Given the description of an element on the screen output the (x, y) to click on. 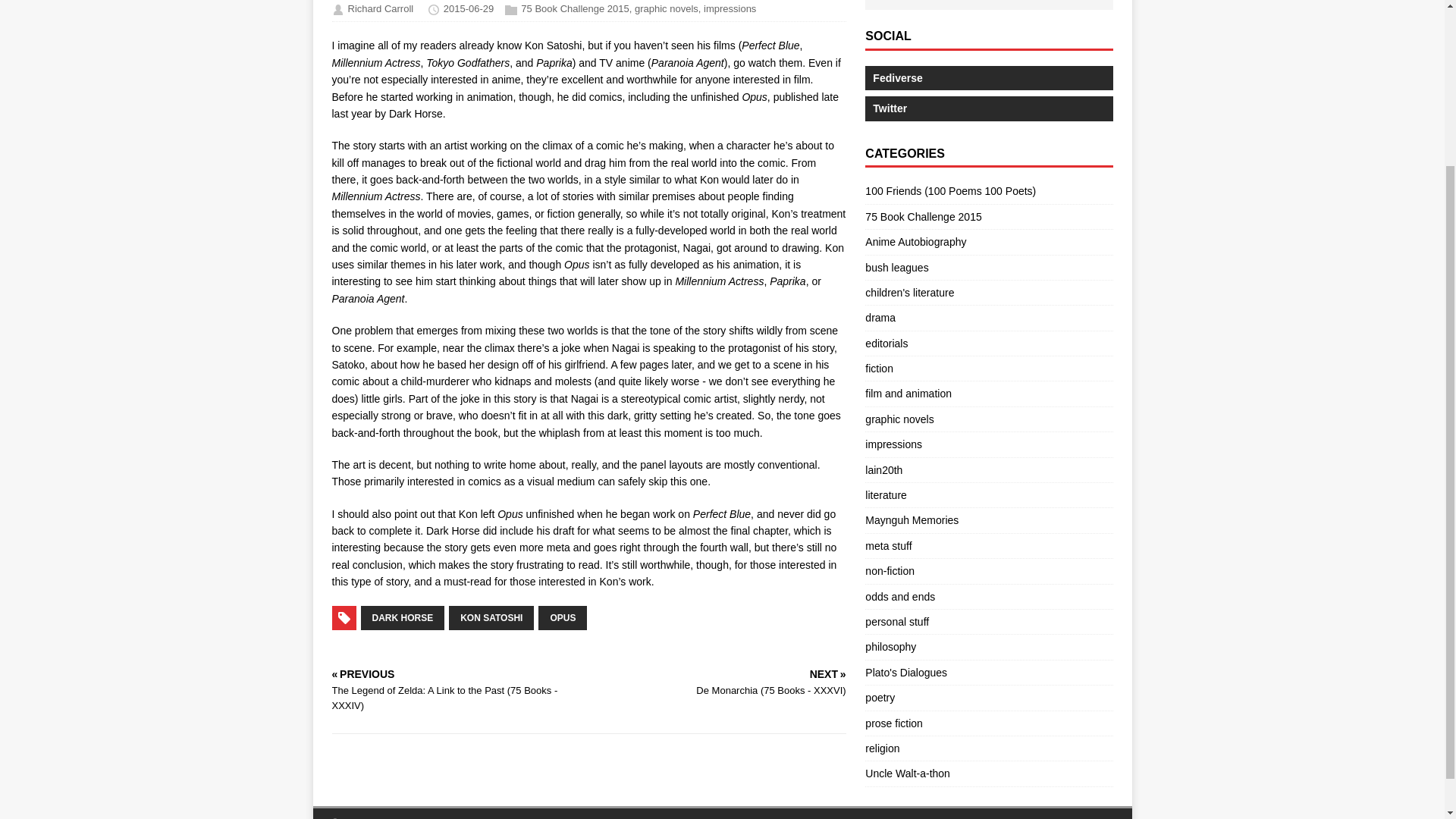
personal stuff (896, 621)
Twitter (988, 108)
lain20th (883, 469)
Fediverse (988, 78)
film and animation (908, 393)
literature (884, 494)
bush leagues (896, 267)
meta stuff (887, 545)
Uncle Walt-a-thon (907, 773)
75 Book Challenge 2015 (574, 9)
